Given the description of an element on the screen output the (x, y) to click on. 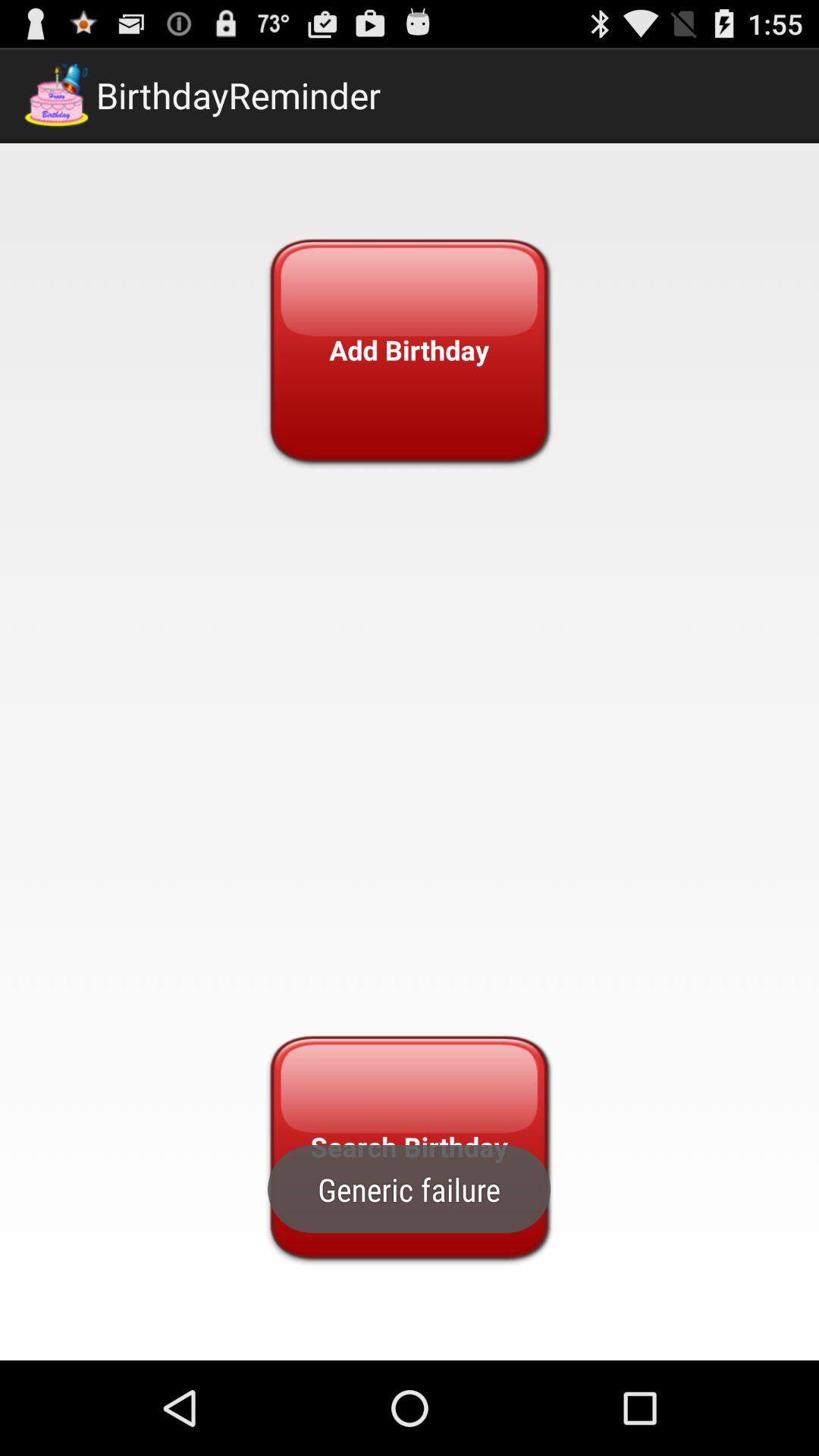
flip until add birthday icon (408, 349)
